Given the description of an element on the screen output the (x, y) to click on. 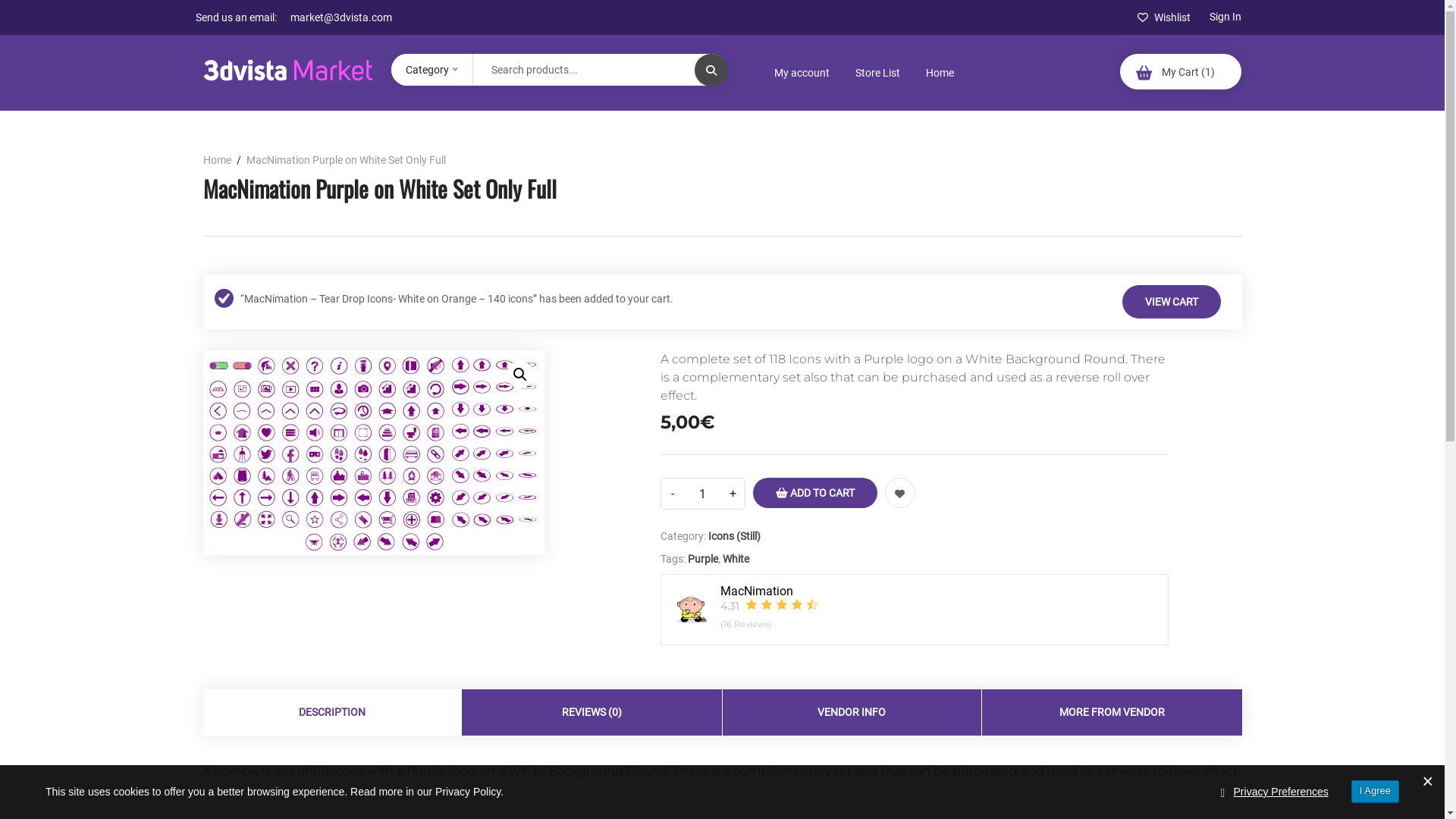
Icons (Still) Element type: text (734, 536)
Home Element type: text (939, 72)
Qty Element type: hover (702, 493)
Purple Element type: text (702, 558)
Wishlist Element type: text (1163, 17)
MacNimation Element type: text (760, 591)
White Element type: text (735, 558)
VENDOR INFO Element type: text (851, 712)
ADD TO CART Element type: text (815, 492)
Store List Element type: text (877, 72)
DESCRIPTION Element type: text (332, 712)
VIEW CART Element type: text (1171, 301)
Sign In Element type: text (1225, 16)
market@3dvista.com Element type: text (345, 17)
My account Element type: text (801, 72)
Purple-on-White-Gallery Element type: hover (373, 452)
Privacy Preferences Element type: text (1281, 791)
Register Element type: text (818, 657)
Log in Element type: text (481, 410)
My Cart (1) Element type: text (1180, 71)
MORE FROM VENDOR Element type: text (1112, 712)
REVIEWS (0) Element type: text (591, 712)
Home Element type: text (222, 159)
I Agree Element type: text (1375, 791)
